Given the description of an element on the screen output the (x, y) to click on. 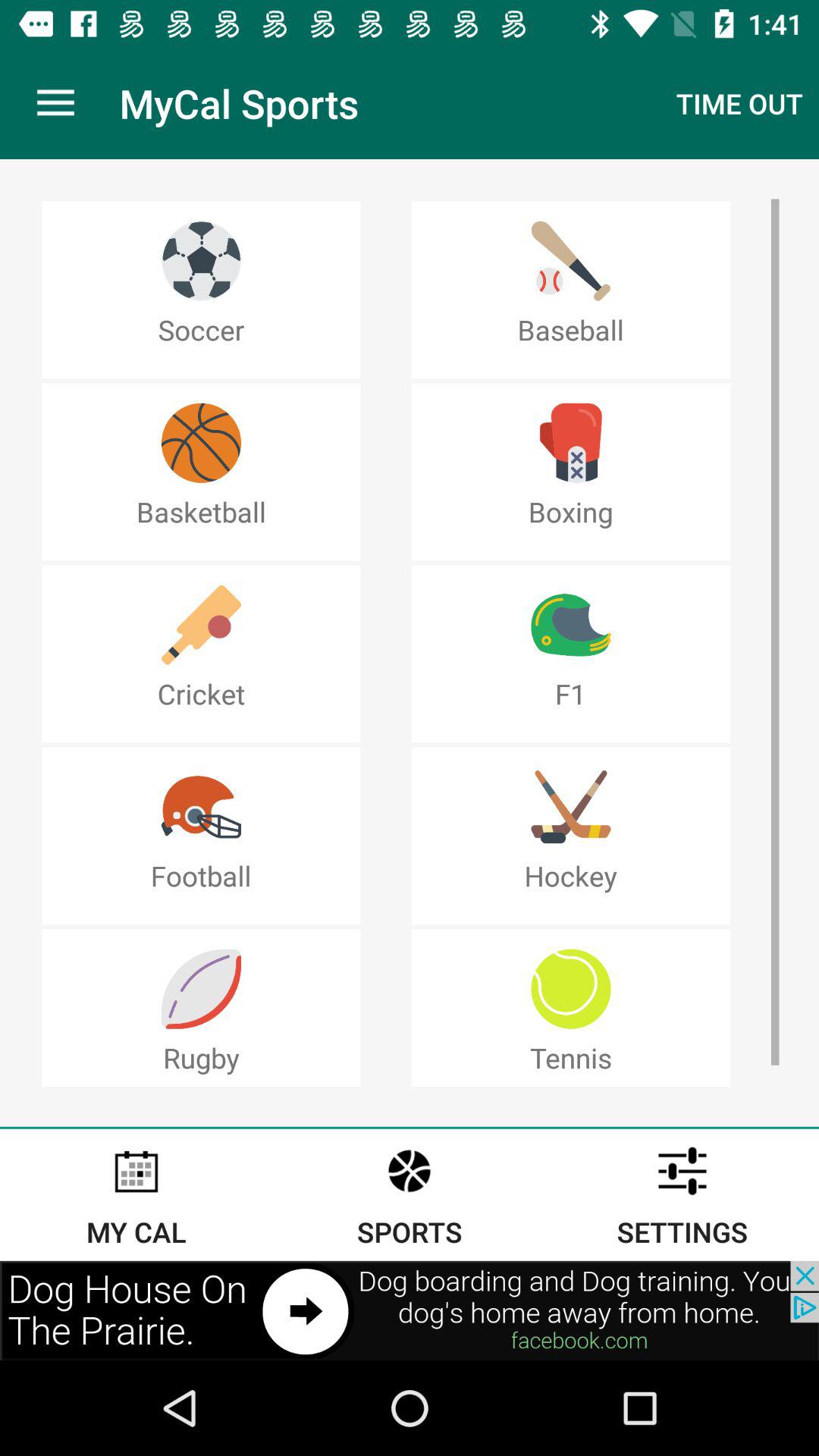
advertisement (409, 1310)
